Given the description of an element on the screen output the (x, y) to click on. 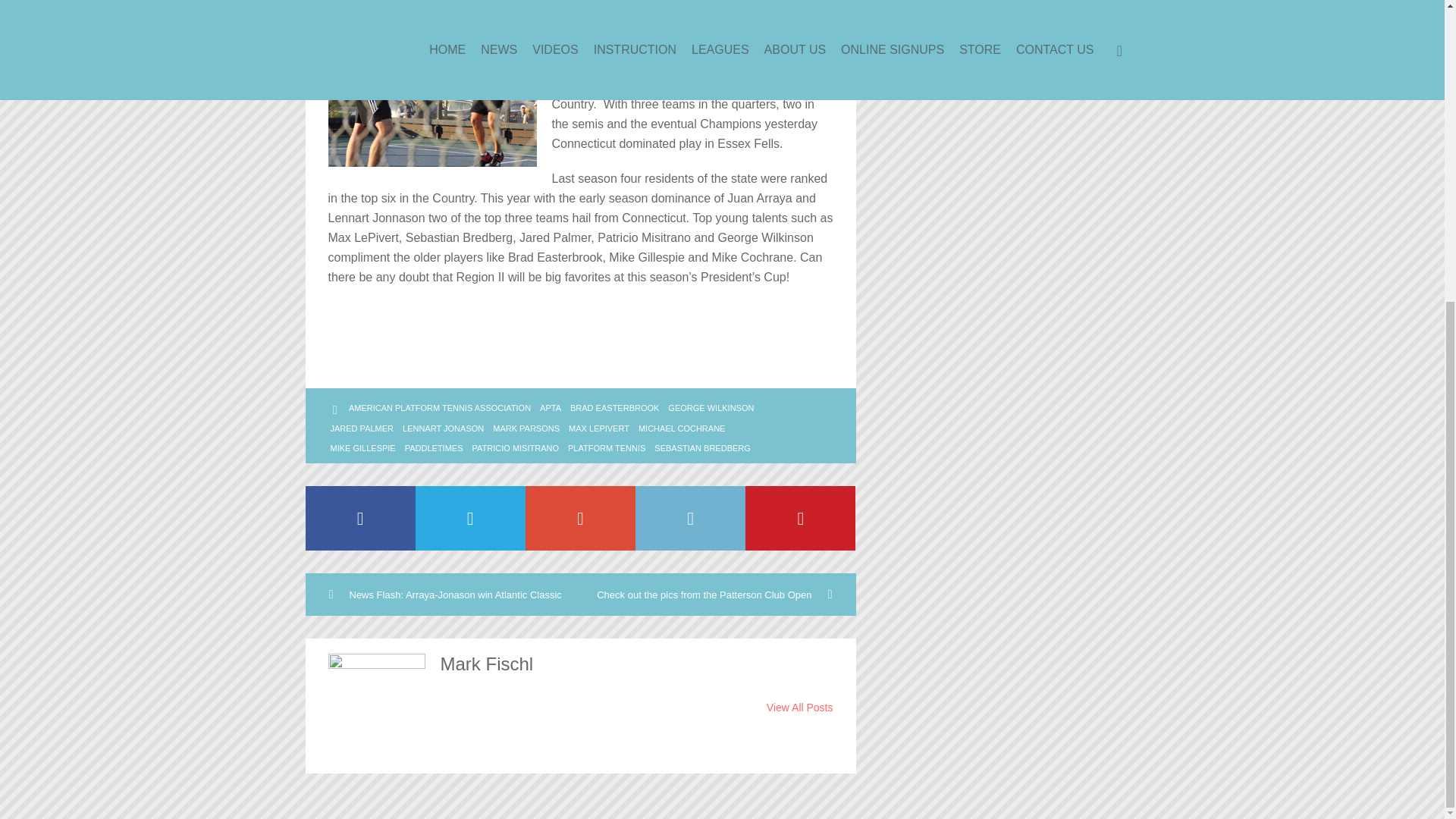
News Flash: Arraya-Jonason win Atlantic Classic (441, 594)
Check out the pics from the Patterson Club Open (718, 594)
